Given the description of an element on the screen output the (x, y) to click on. 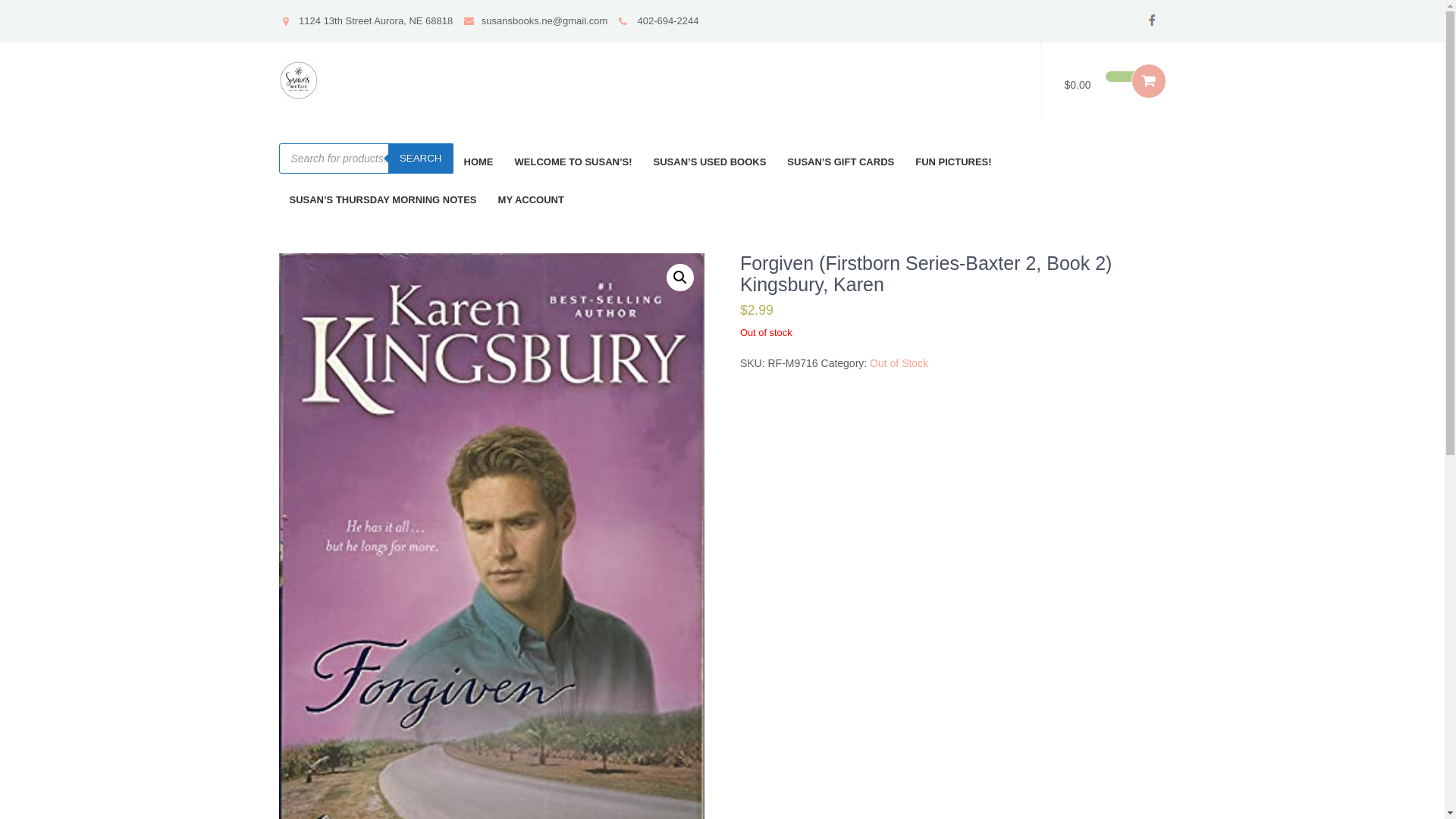
MY ACCOUNT (531, 199)
HOME (477, 161)
SEARCH (420, 158)
Out of Stock (898, 363)
FUN PICTURES! (952, 161)
facebook (1152, 20)
